Given the description of an element on the screen output the (x, y) to click on. 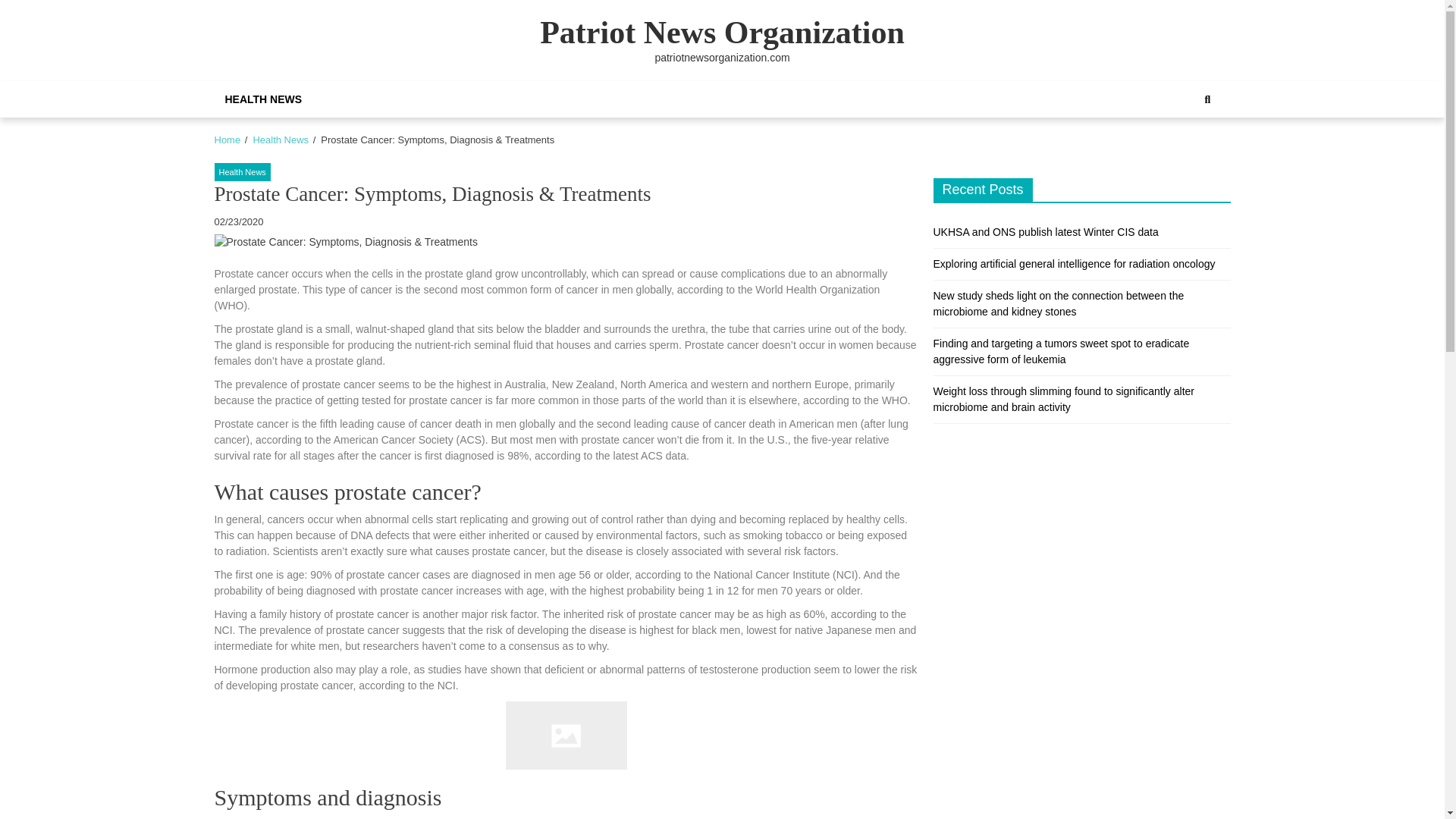
HEALTH NEWS (263, 99)
Patriot News Organization (722, 32)
UKHSA and ONS publish latest Winter CIS data (1045, 232)
Health News (241, 171)
Search (1191, 150)
Search (1207, 99)
Health News (279, 139)
